Given the description of an element on the screen output the (x, y) to click on. 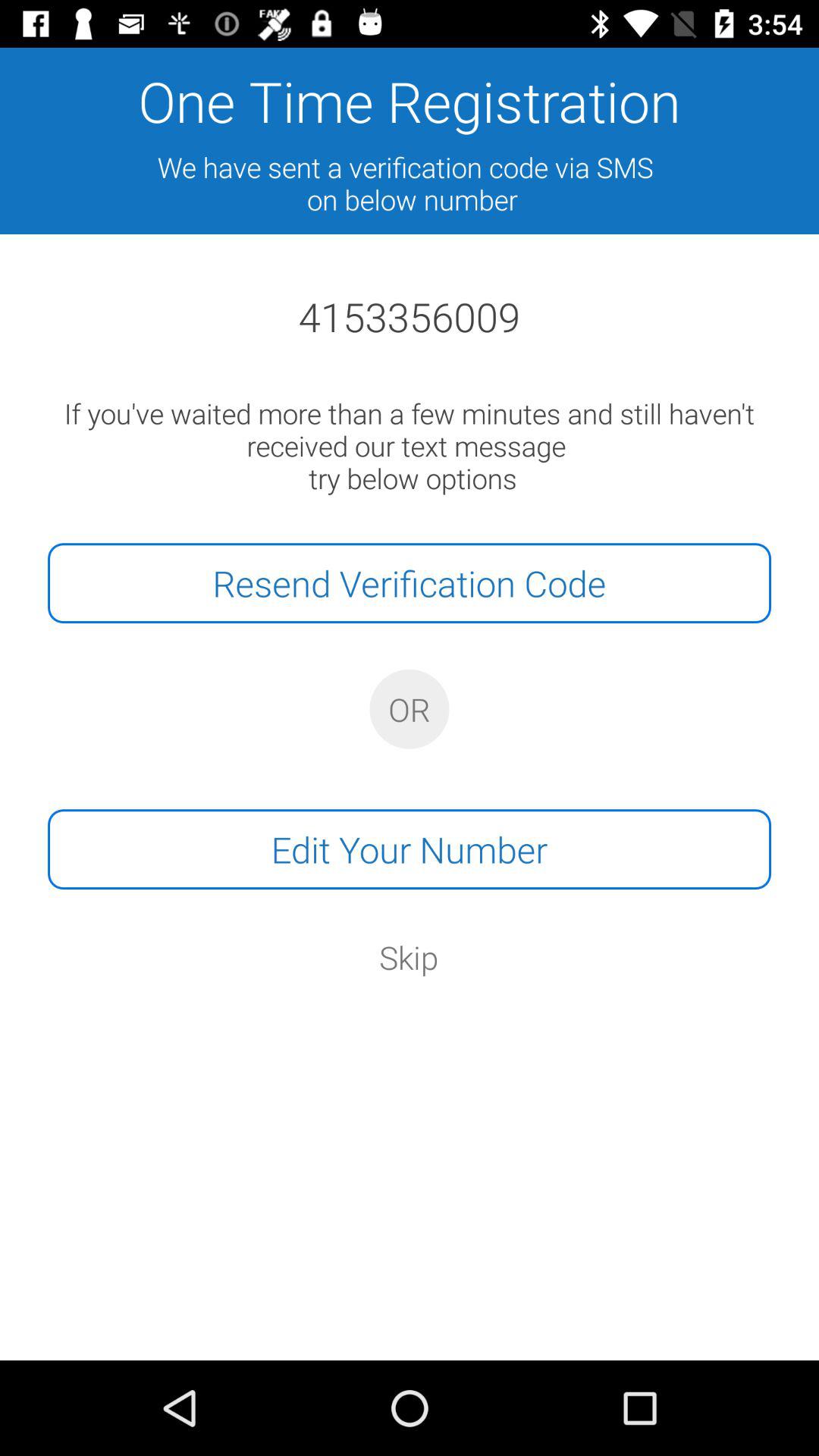
open icon below edit your number (408, 956)
